Given the description of an element on the screen output the (x, y) to click on. 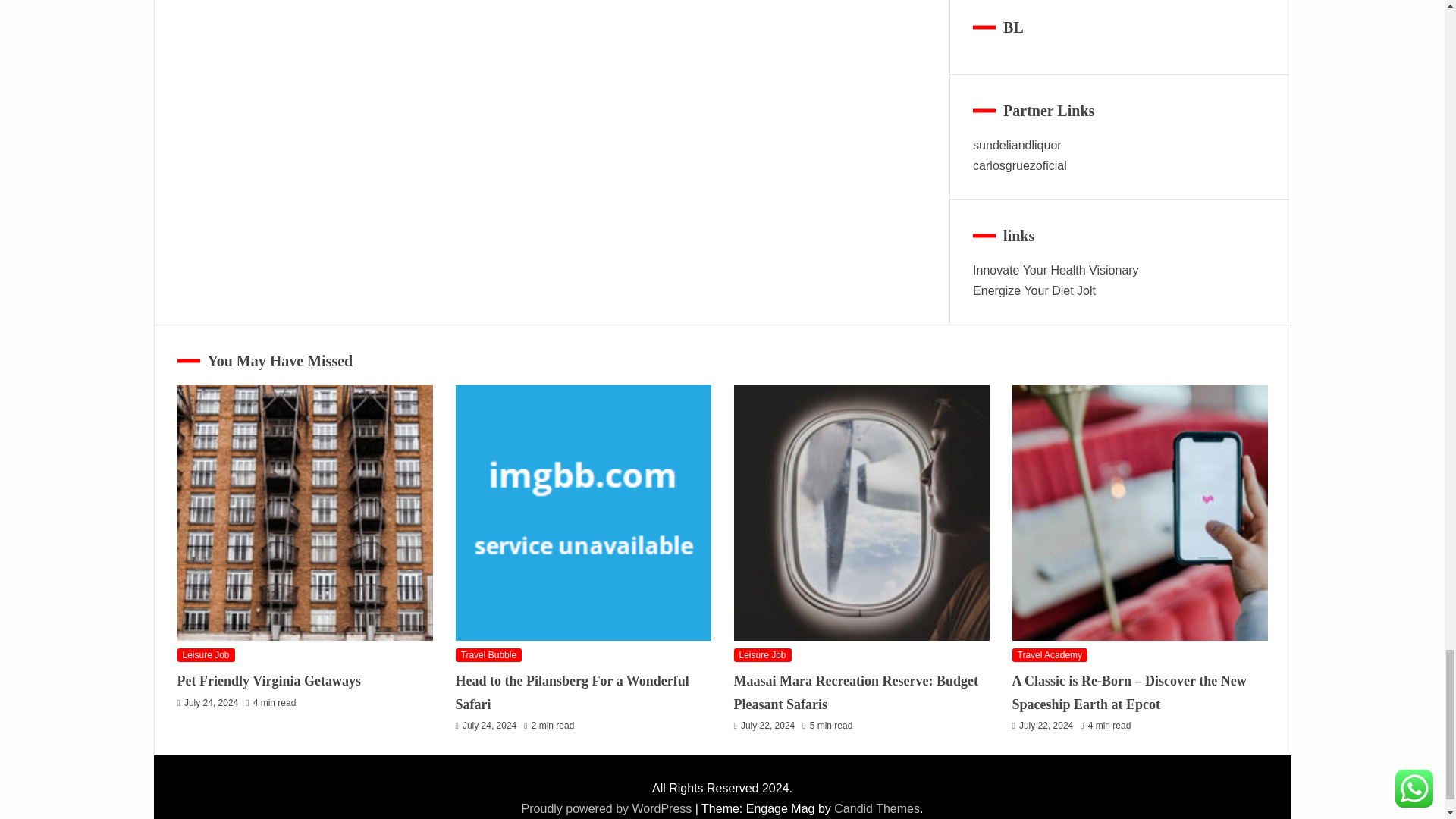
Head to the Pilansberg For a Wonderful Safari (582, 512)
Maasai Mara Recreation Reserve: Budget Pleasant Safaris (861, 512)
Pet Friendly Virginia Getaways (304, 512)
